Given the description of an element on the screen output the (x, y) to click on. 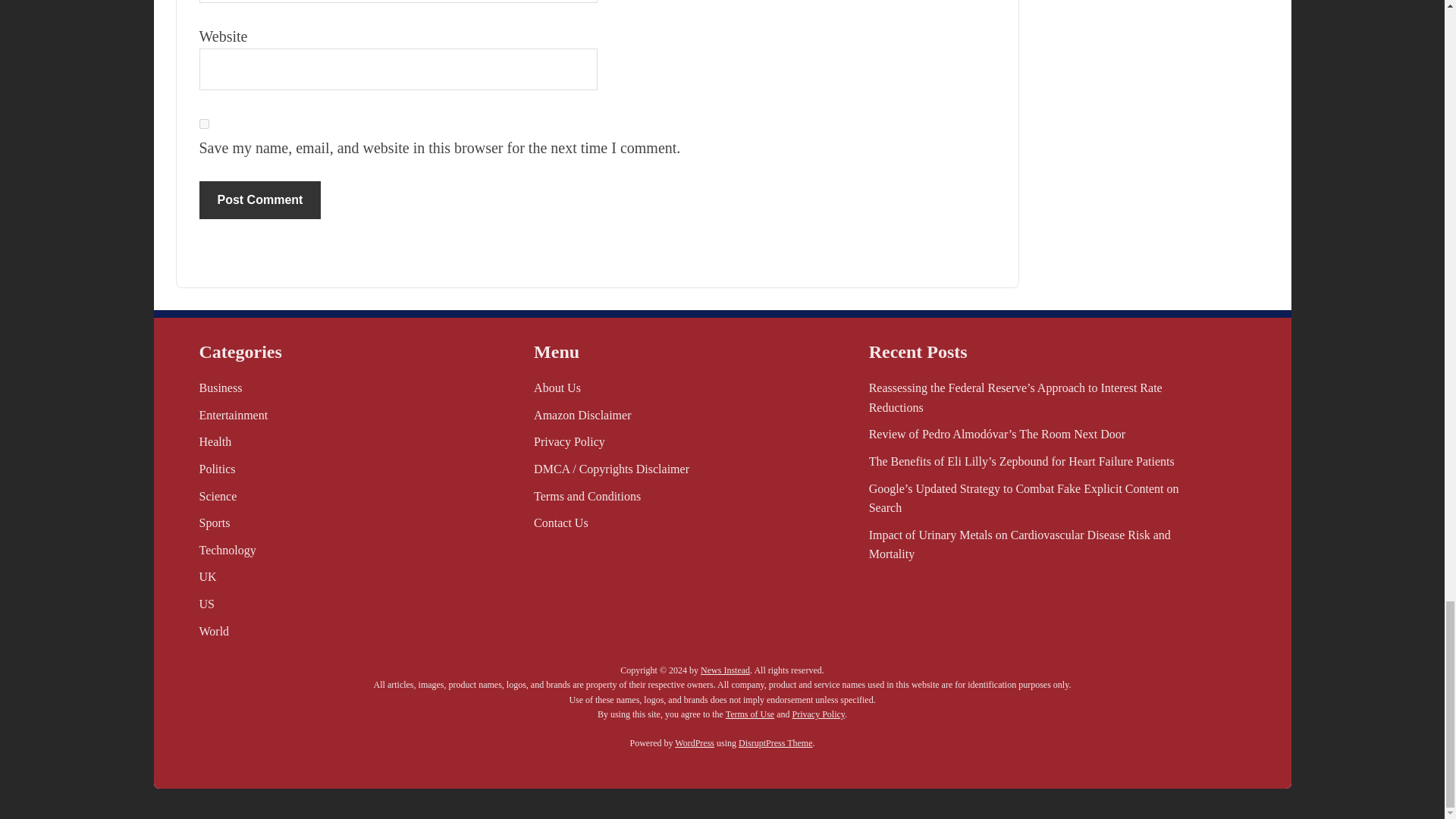
Post Comment (259, 199)
yes (203, 123)
